Given the description of an element on the screen output the (x, y) to click on. 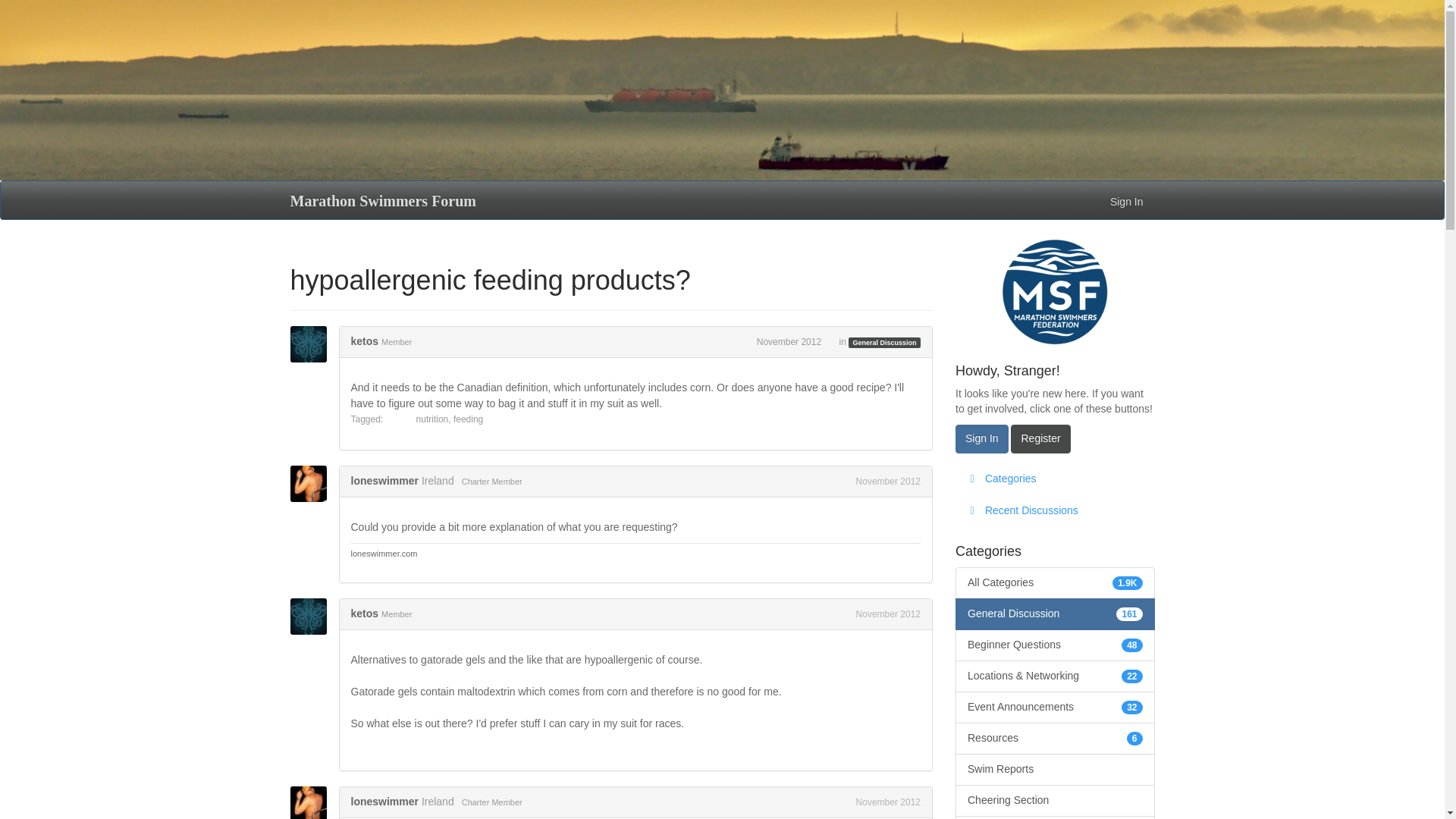
loneswimmer (311, 484)
November  2, 2012  1:08PM (888, 801)
feeding (467, 419)
ketos (364, 613)
nutrition (432, 419)
General Discussion (884, 342)
November 2012 (789, 341)
November 2012 (888, 480)
November  2, 2012 10:22AM (888, 480)
November  2, 2012 10:13AM (789, 341)
Sign In (1126, 199)
loneswimmer (311, 802)
November 2012 (888, 614)
November 2012 (888, 801)
ketos (364, 340)
